Given the description of an element on the screen output the (x, y) to click on. 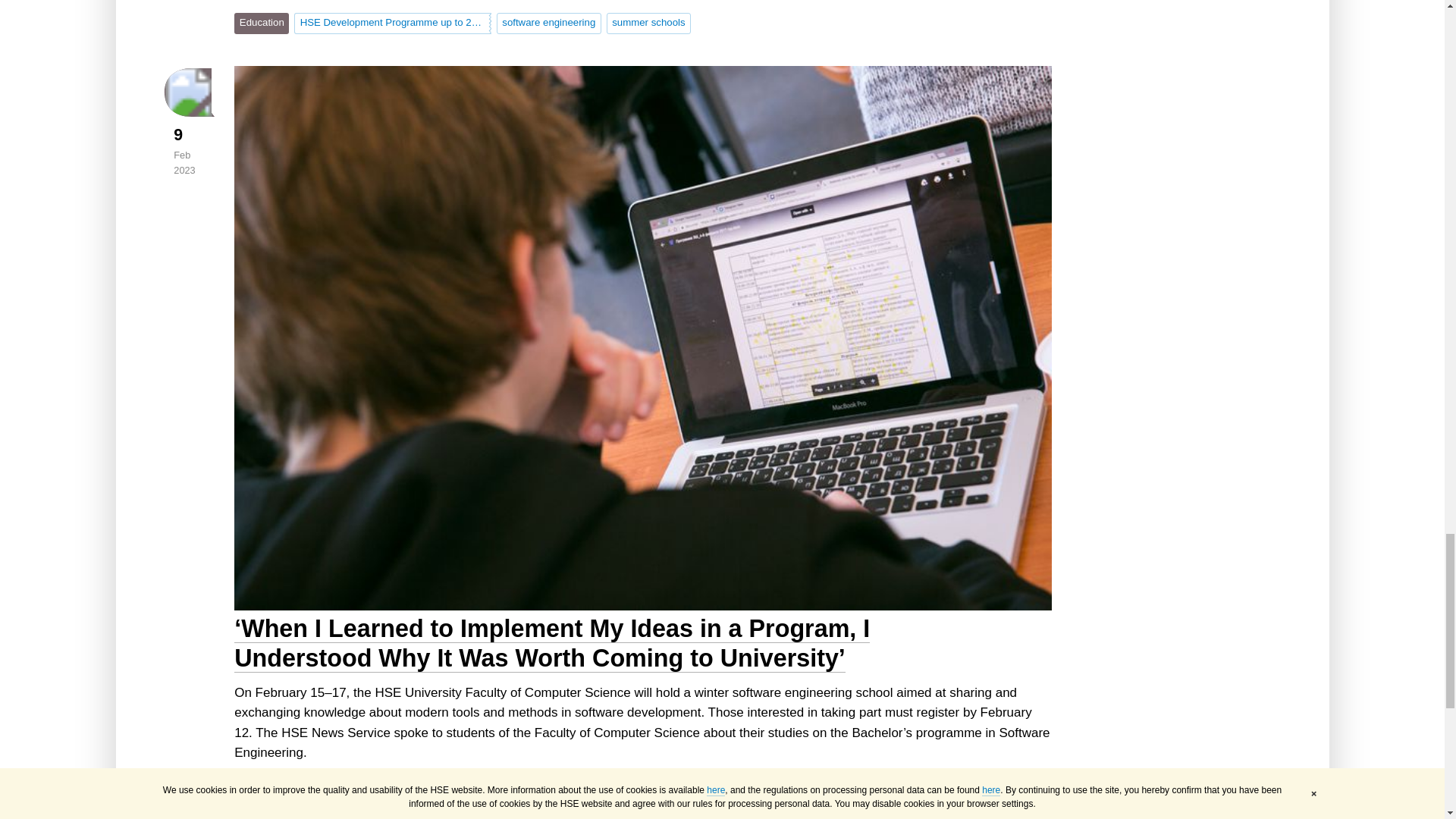
HSE Development Programme up to 2030 (393, 23)
summer schools (649, 23)
software engineering (548, 23)
